Given the description of an element on the screen output the (x, y) to click on. 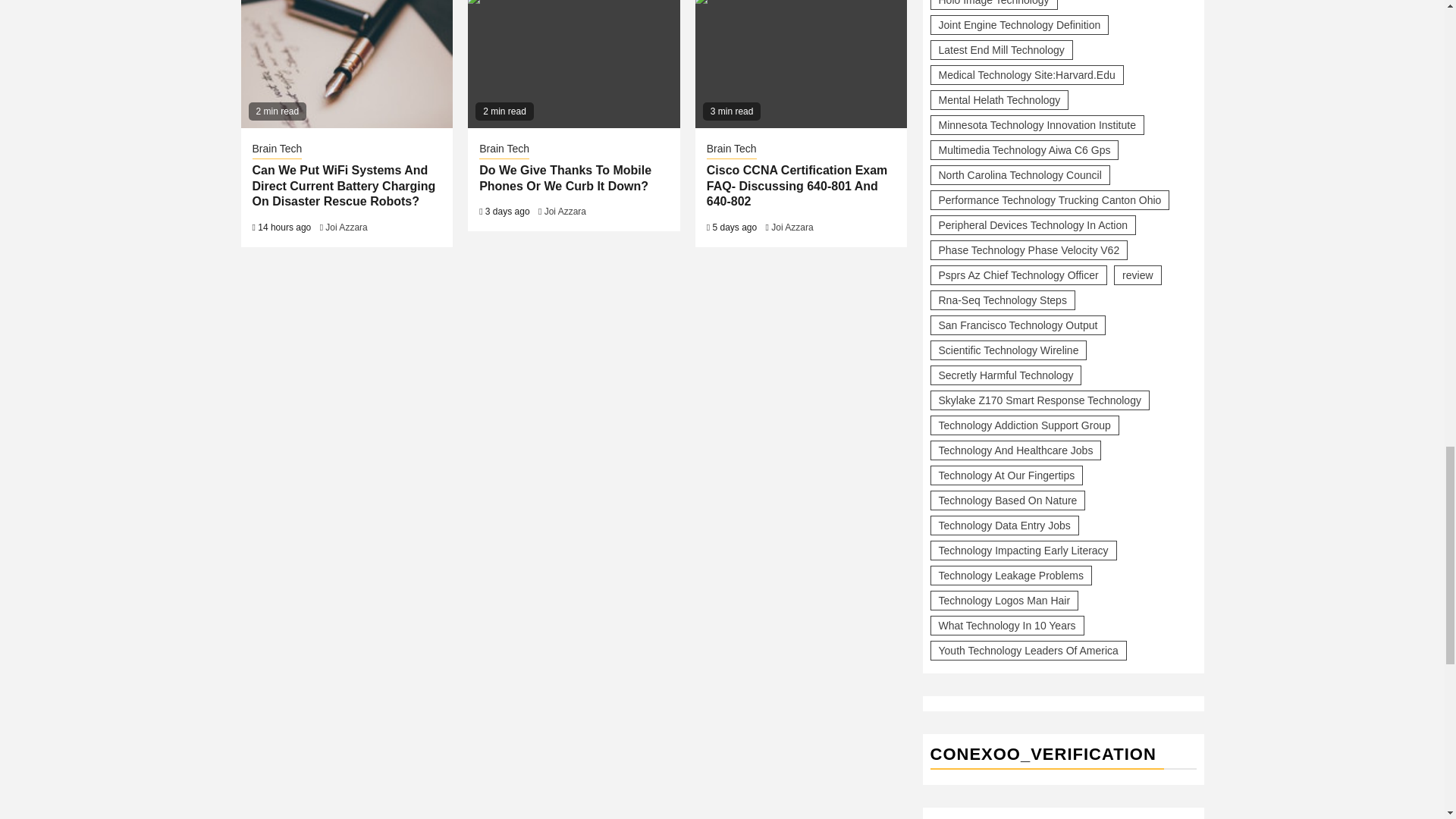
Do We Give Thanks To Mobile Phones Or We Curb It Down? (573, 63)
Brain Tech (276, 149)
